Given the description of an element on the screen output the (x, y) to click on. 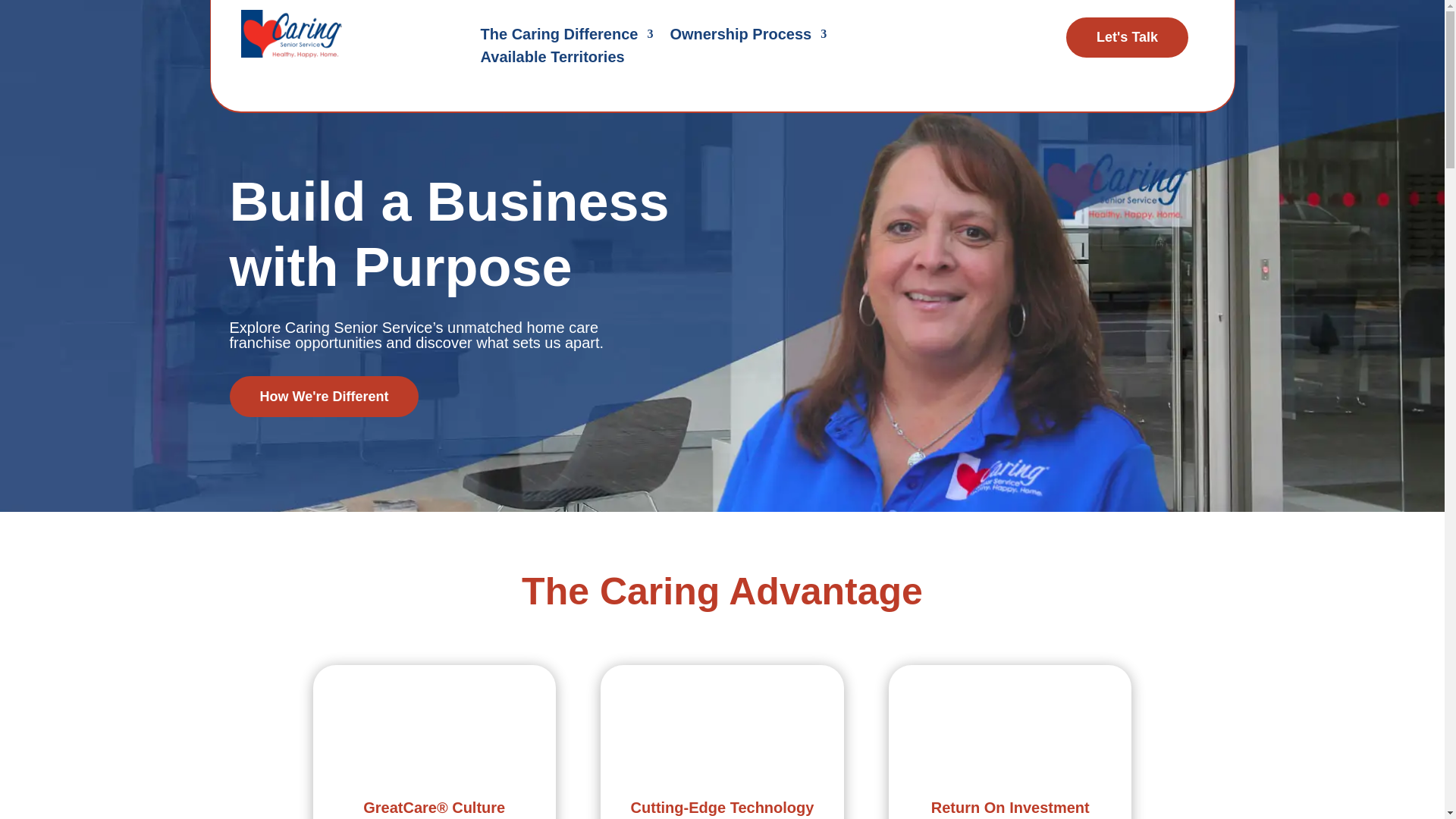
Available Territories (552, 59)
css-logo-png (291, 33)
Let's Talk (1126, 37)
The Caring Difference (566, 36)
Ownership Process (748, 36)
